Given the description of an element on the screen output the (x, y) to click on. 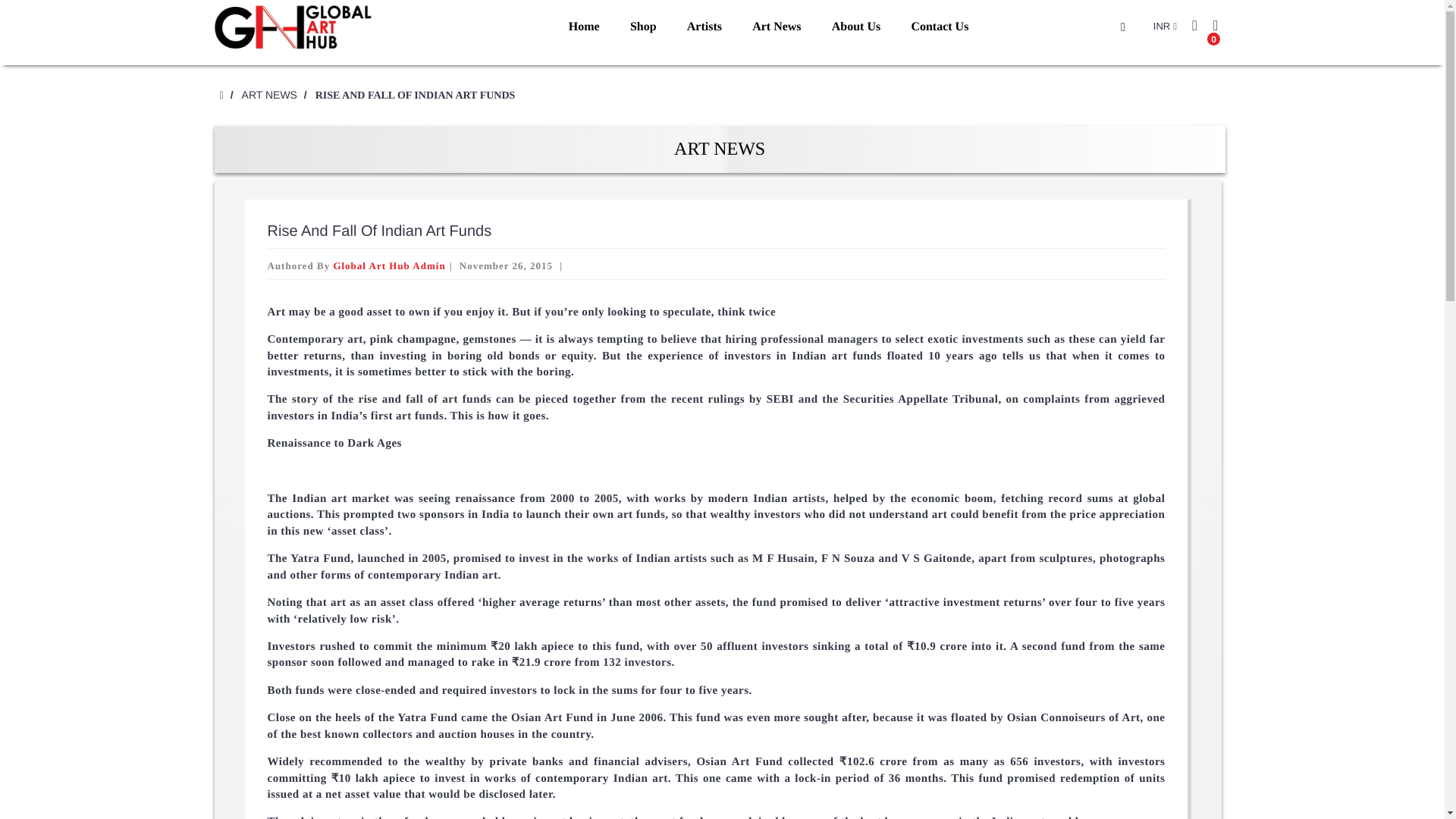
Logo (295, 27)
Global Art Hub Admin (389, 265)
Contact Us (939, 27)
INR (1165, 26)
Home (583, 27)
Shop (642, 27)
Back to the frontpage (220, 94)
Art News (775, 27)
Artists (703, 27)
About Us (855, 27)
